Given the description of an element on the screen output the (x, y) to click on. 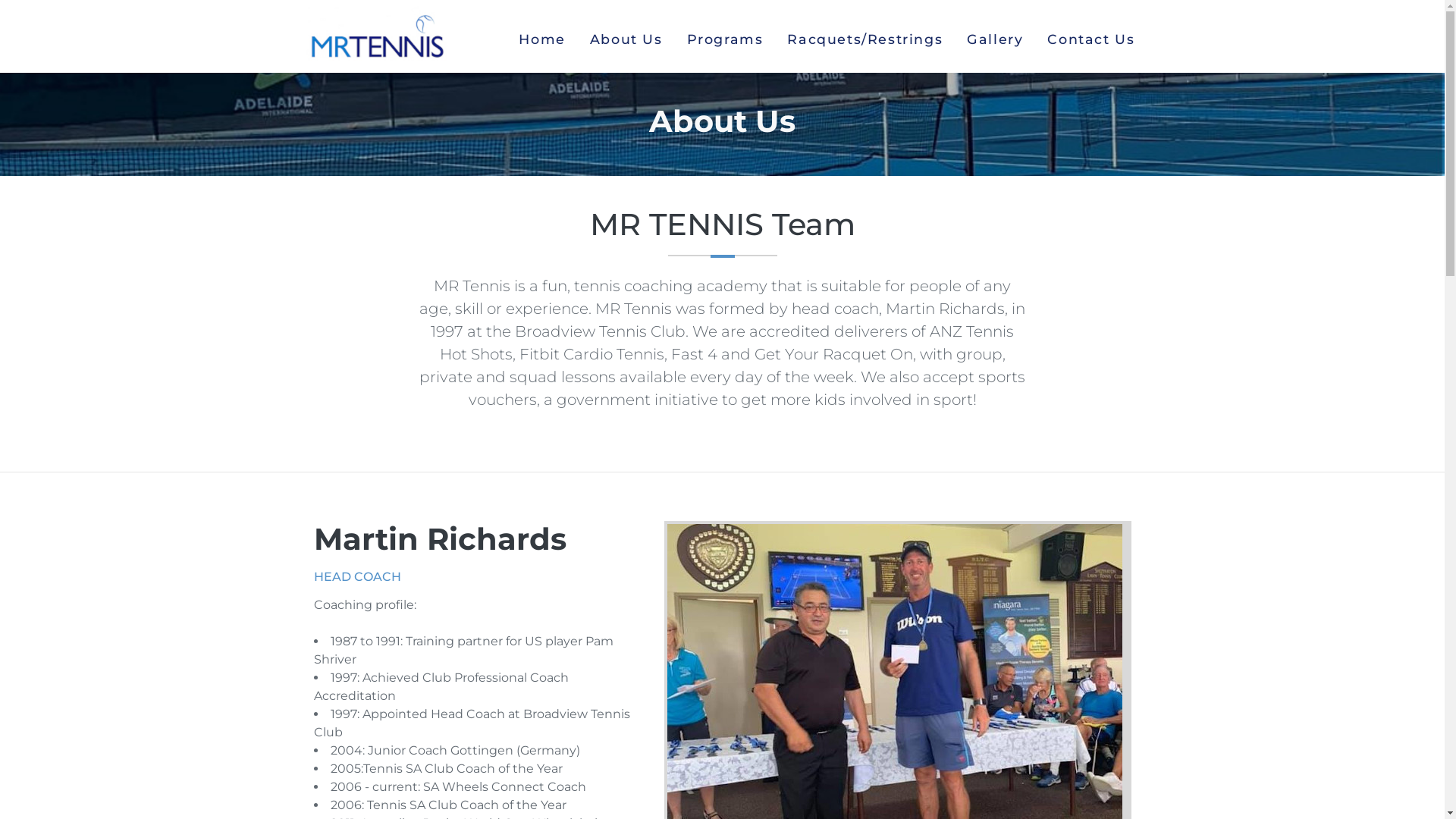
Programs Element type: text (724, 39)
Home Element type: text (541, 39)
Contact Us Element type: text (1090, 39)
Racquets/Restrings Element type: text (864, 39)
Gallery Element type: text (994, 39)
About Us Element type: text (625, 39)
